Given the description of an element on the screen output the (x, y) to click on. 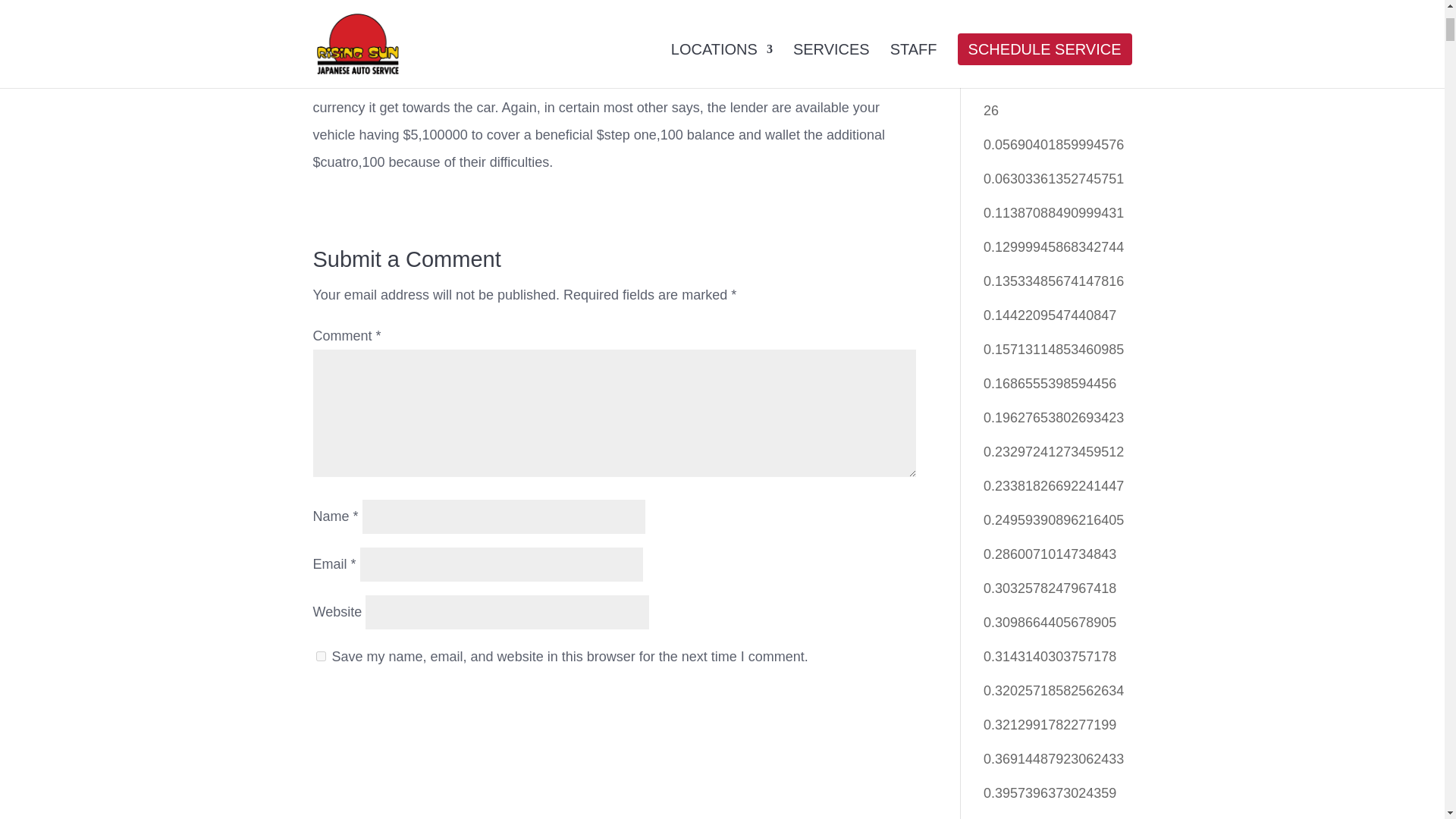
Submit Comment (373, 698)
yes (319, 655)
Submit Comment (373, 698)
